Given the description of an element on the screen output the (x, y) to click on. 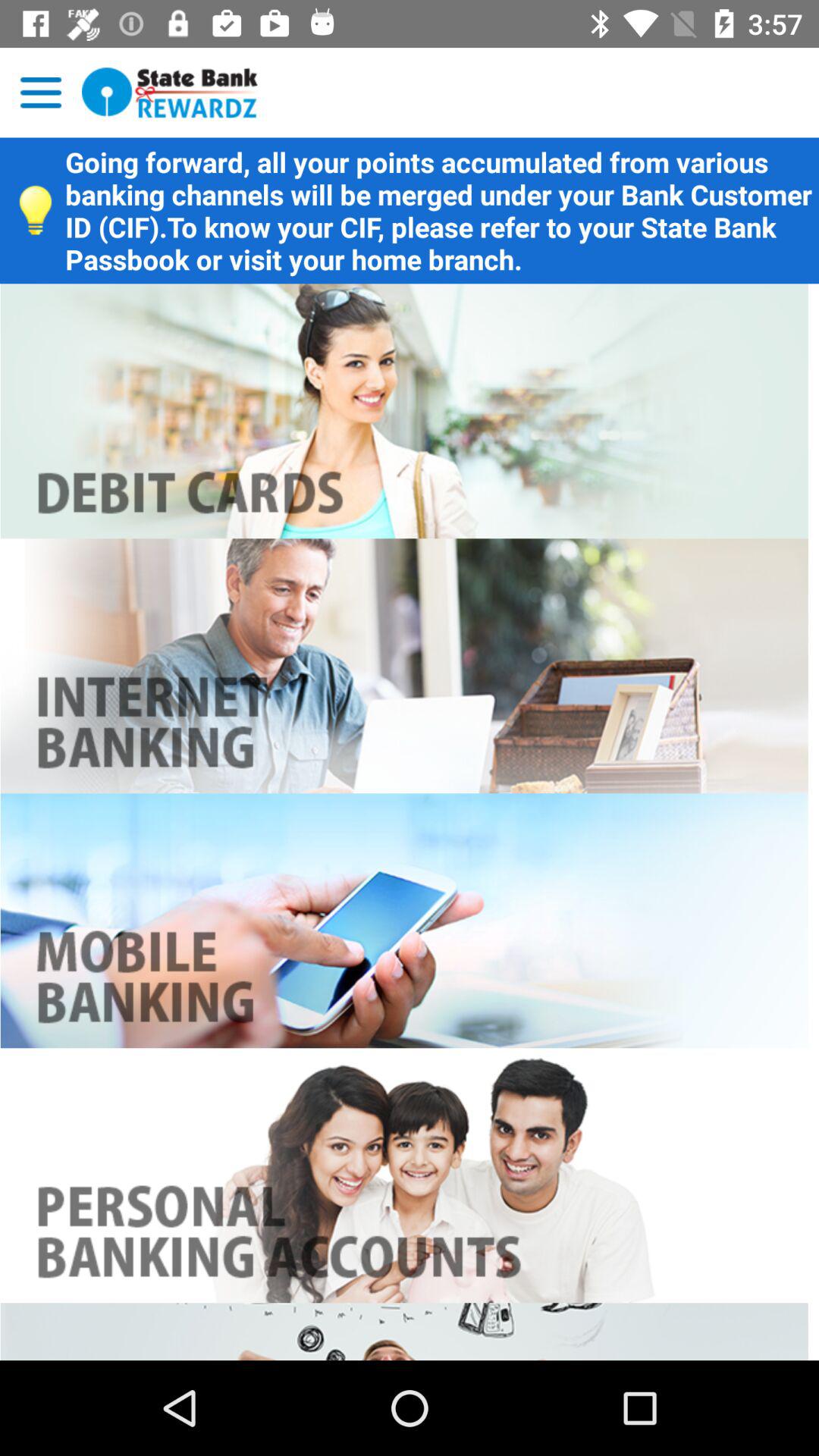
go to home page (169, 92)
